Given the description of an element on the screen output the (x, y) to click on. 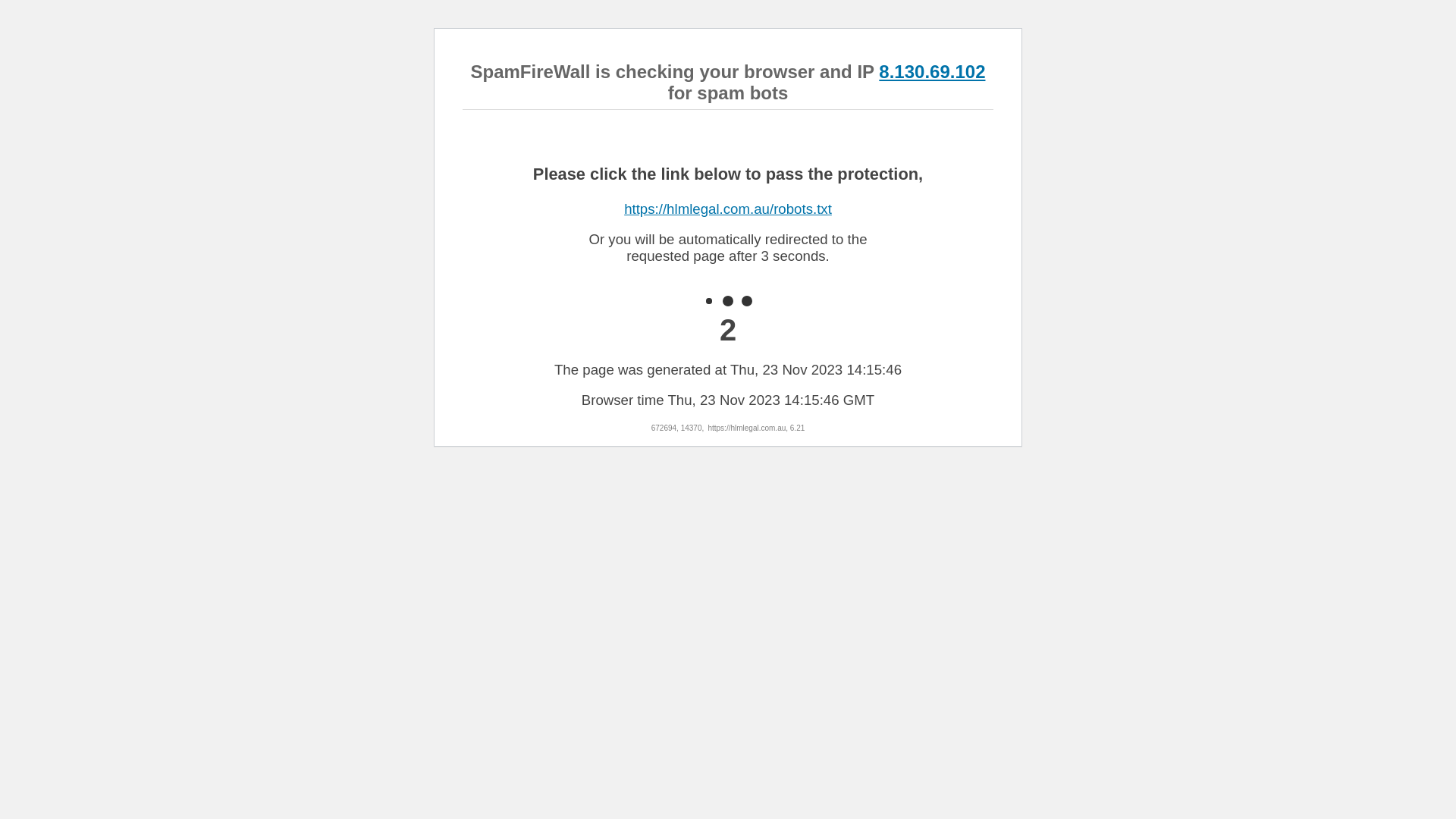
8.130.69.102 Element type: text (931, 71)
https://hlmlegal.com.au/robots.txt Element type: text (727, 208)
